Given the description of an element on the screen output the (x, y) to click on. 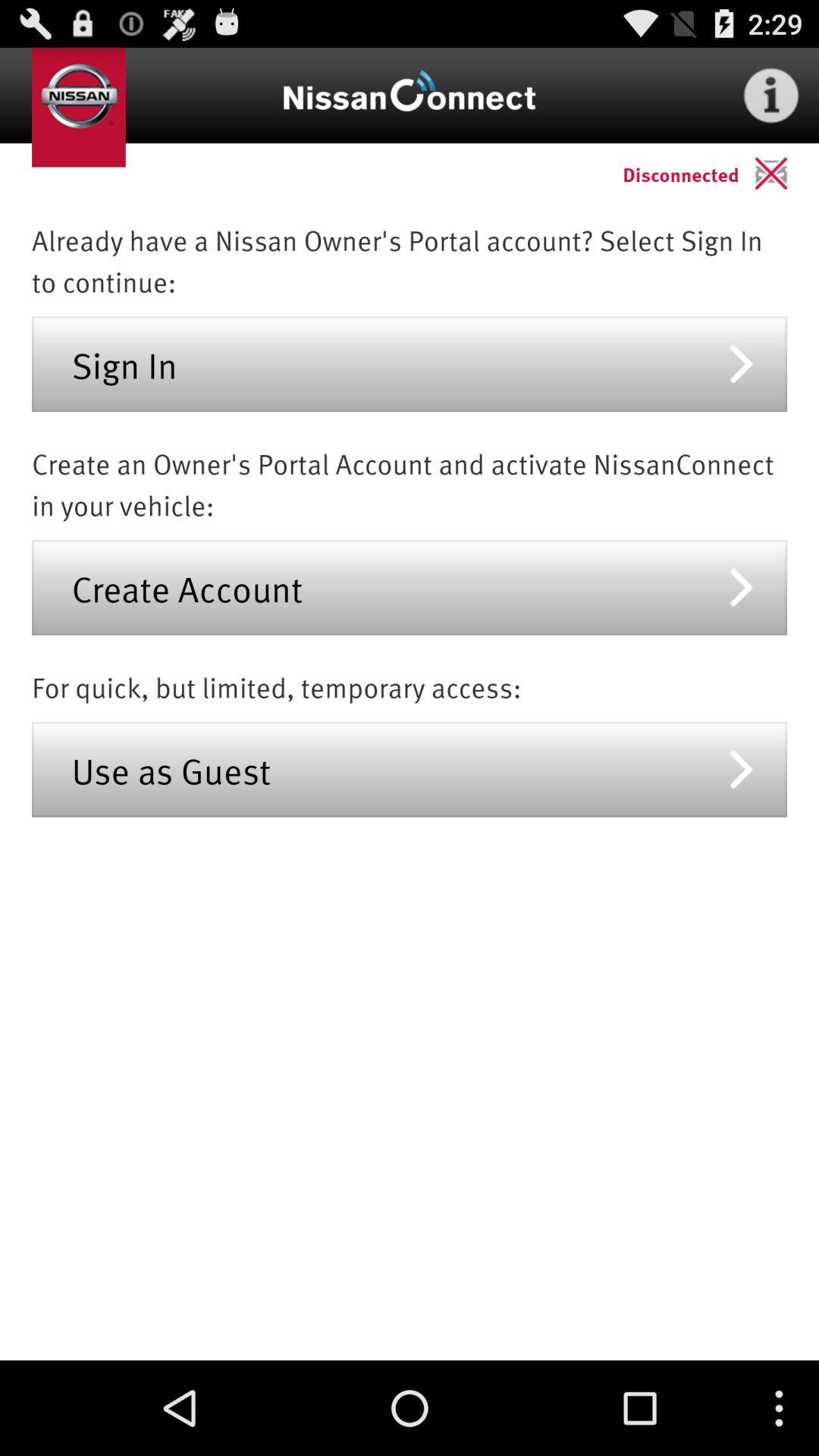
display information nissan connect (771, 95)
